Given the description of an element on the screen output the (x, y) to click on. 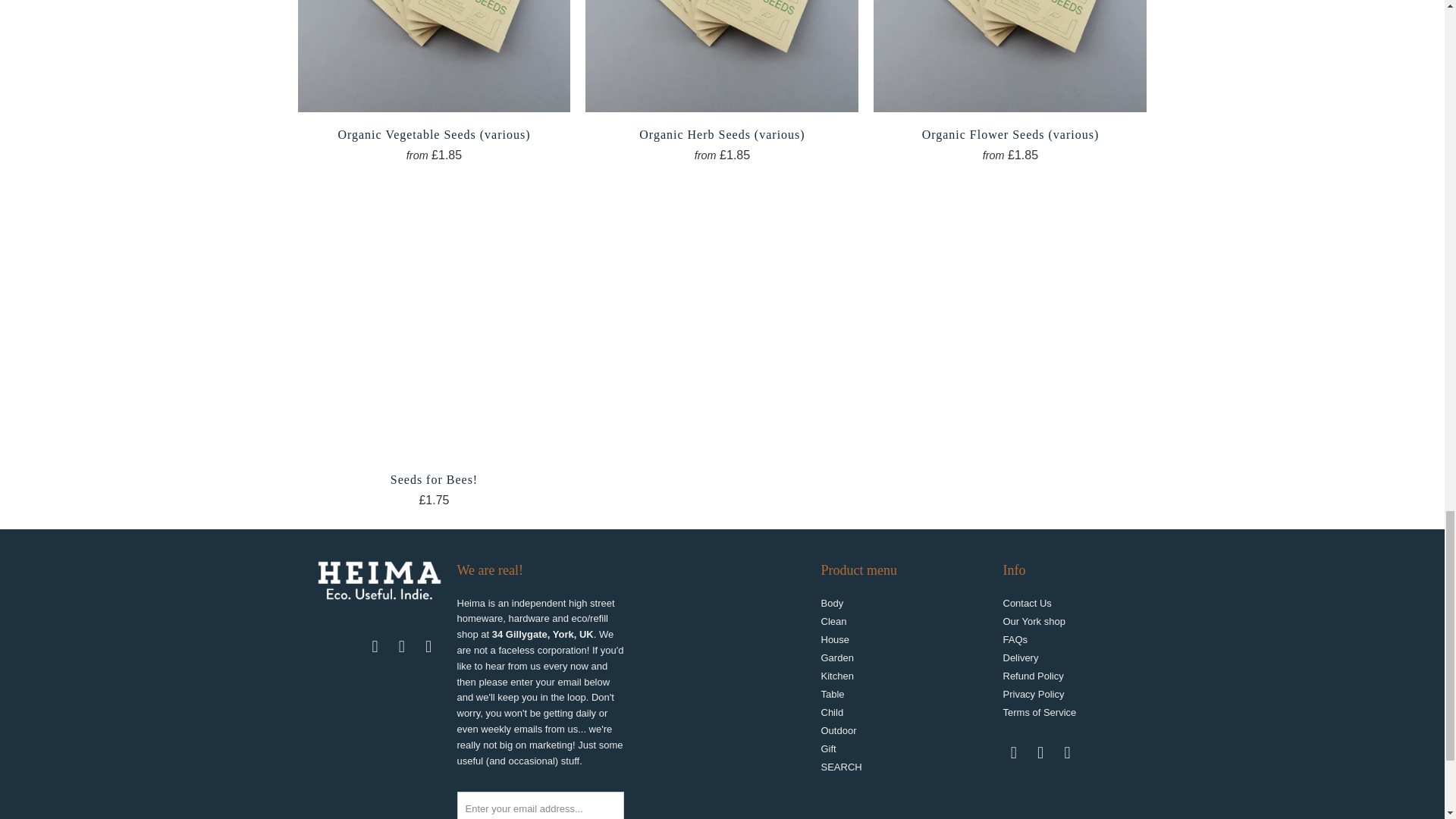
Email Heima (375, 647)
